Given the description of an element on the screen output the (x, y) to click on. 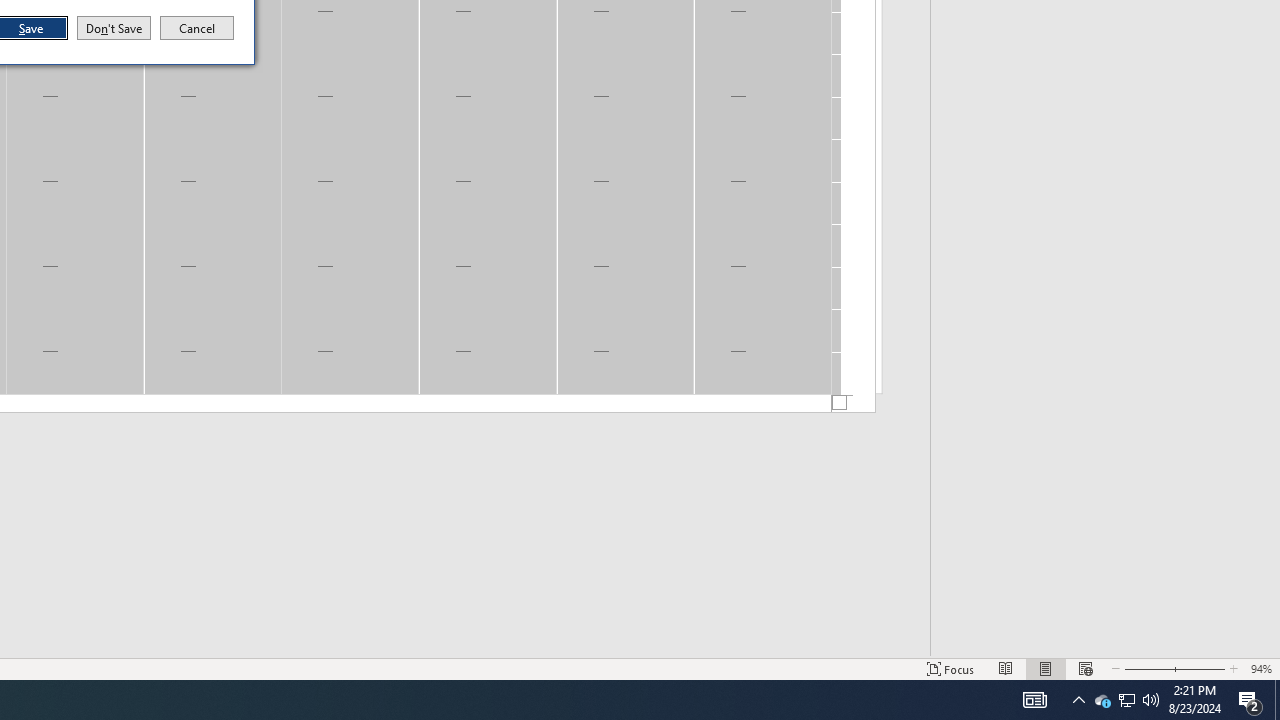
Show desktop (1126, 699)
Cancel (1277, 699)
Focus  (197, 27)
Action Center, 2 new notifications (951, 668)
Notification Chevron (1250, 699)
Web Layout (1102, 699)
Read Mode (1078, 699)
User Promoted Notification Area (1085, 668)
AutomationID: 4105 (1005, 668)
Don't Save (1126, 699)
